Given the description of an element on the screen output the (x, y) to click on. 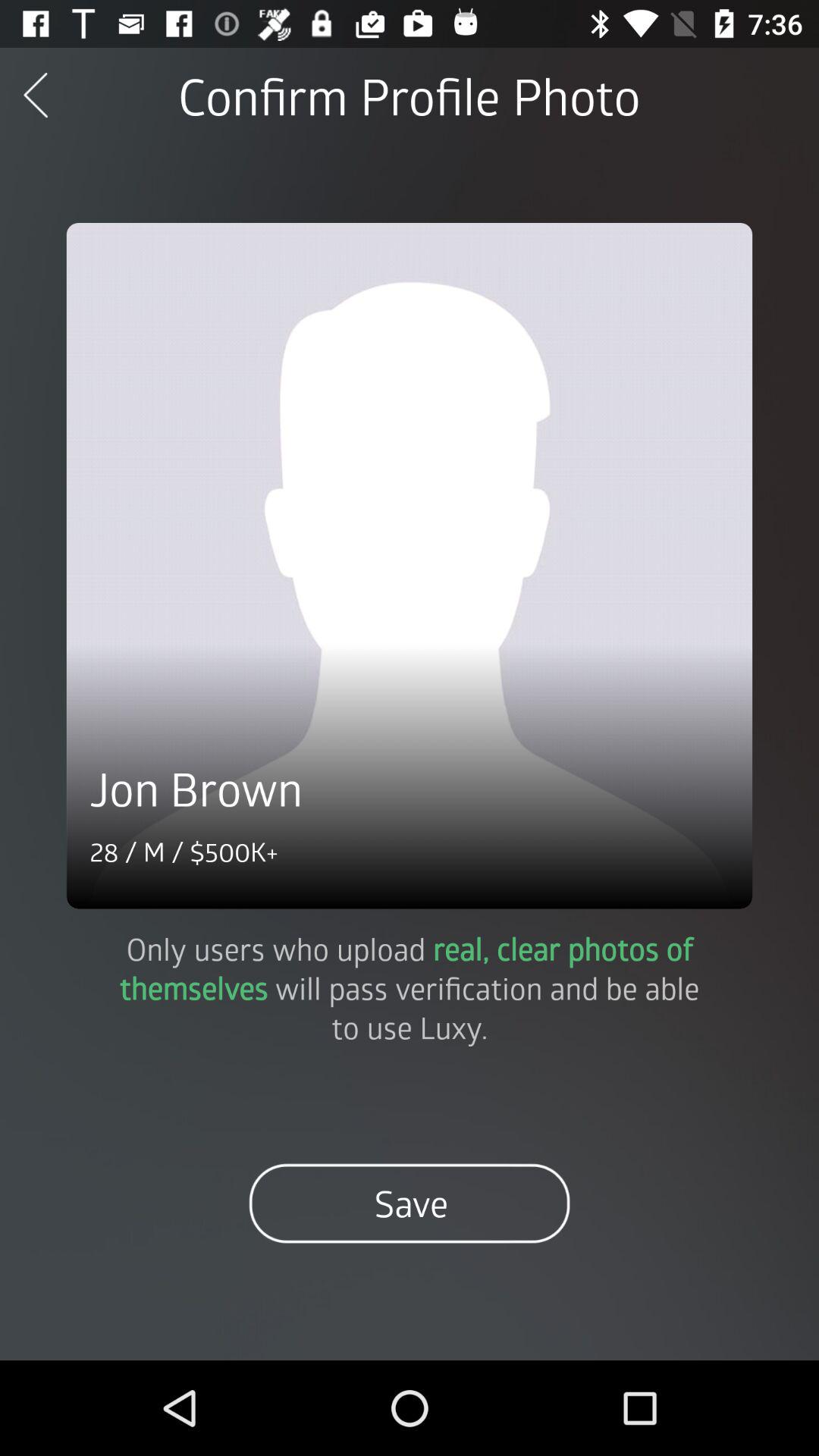
jump until only users who (409, 987)
